Given the description of an element on the screen output the (x, y) to click on. 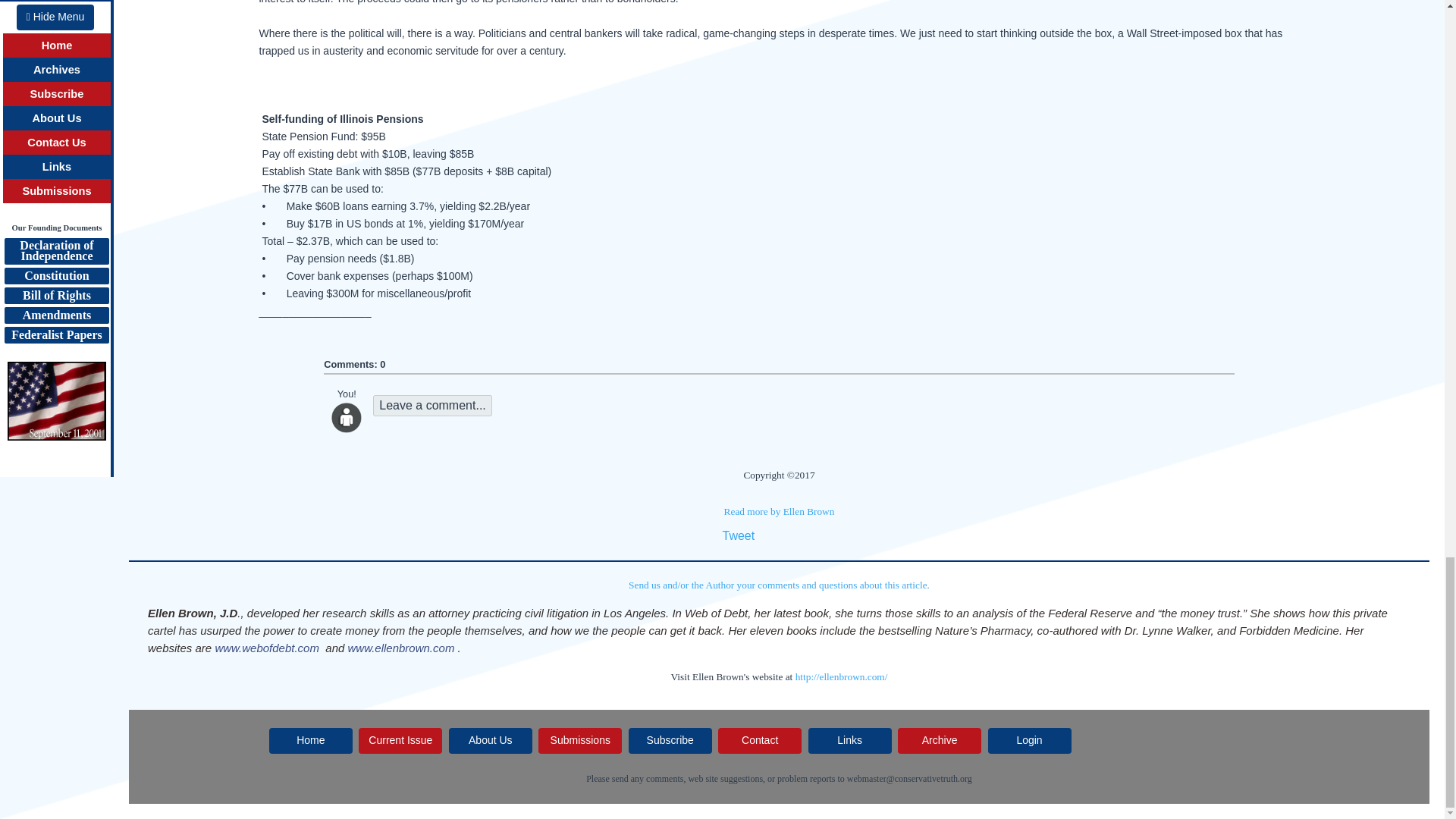
Read more by Ellen Brown (778, 511)
Tweet (738, 535)
Leave a comment... (432, 405)
